Given the description of an element on the screen output the (x, y) to click on. 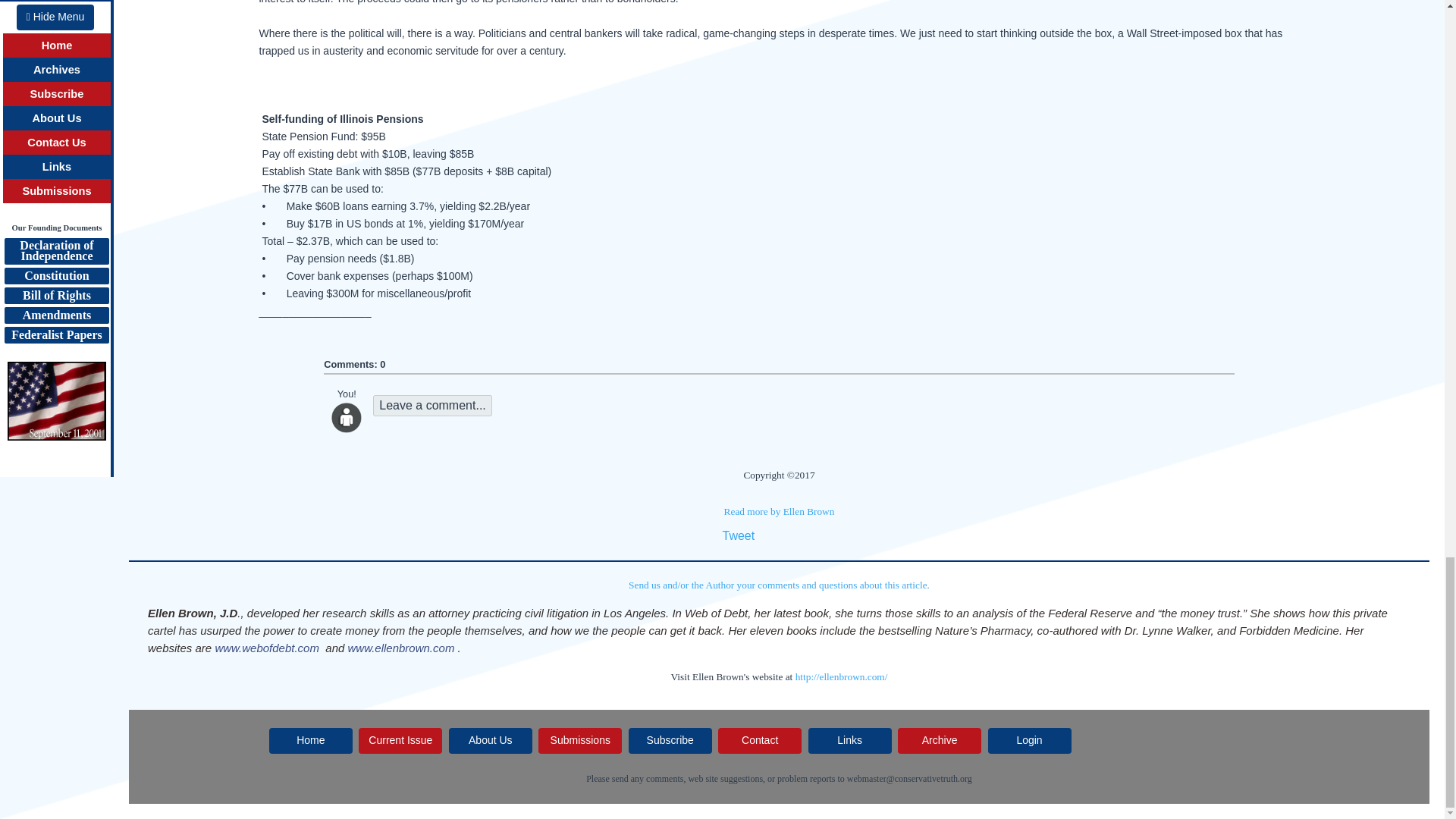
Read more by Ellen Brown (778, 511)
Tweet (738, 535)
Leave a comment... (432, 405)
